Given the description of an element on the screen output the (x, y) to click on. 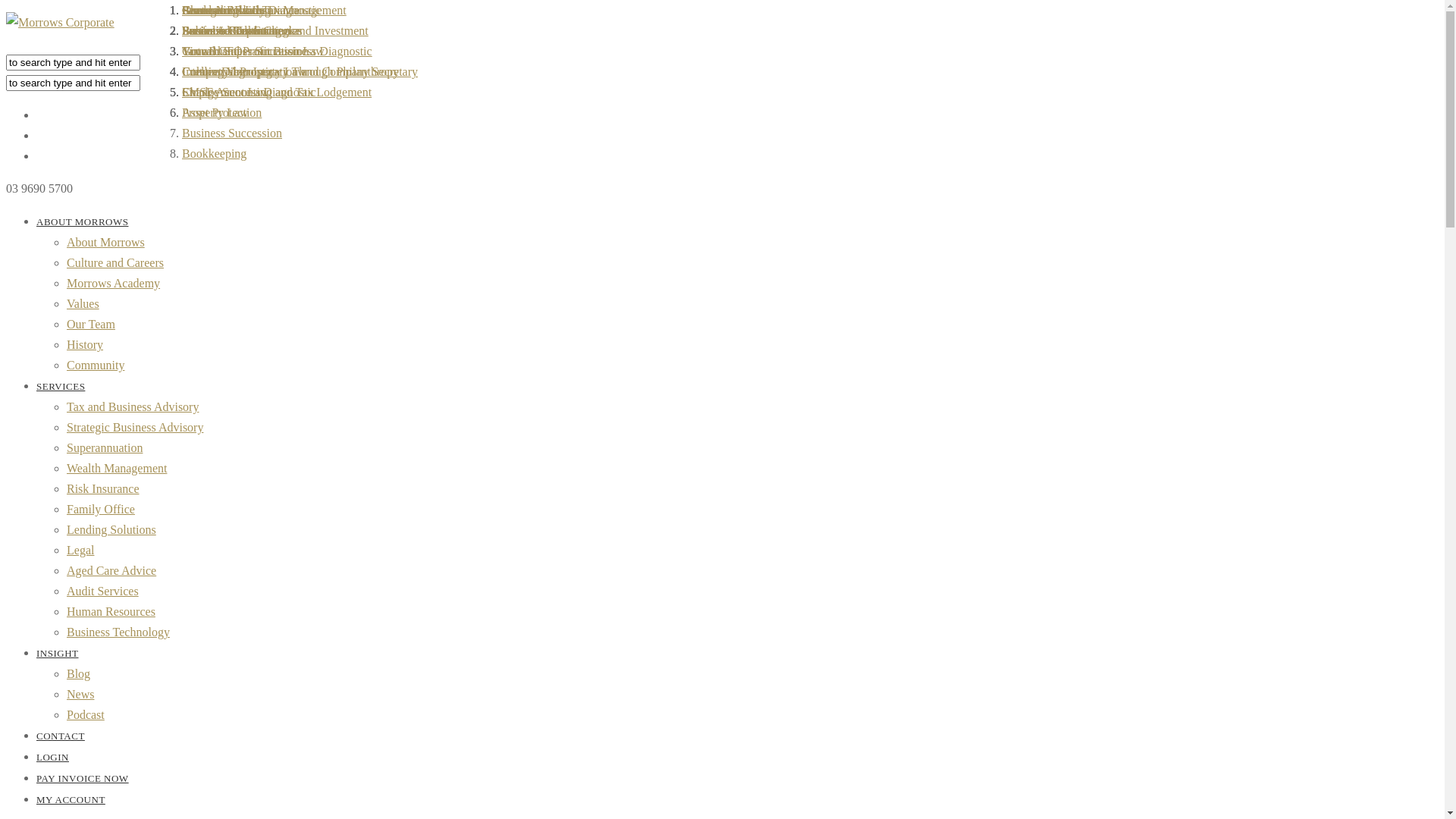
Accounting and Tax Management Element type: text (264, 9)
MY ACCOUNT Element type: text (70, 799)
Business Succession Element type: text (232, 132)
Values Element type: text (82, 303)
Change Success Diagnostic Element type: text (249, 91)
Recession Ready Diagnostic Element type: text (251, 9)
INSIGHT Element type: text (57, 652)
Culture Diagnostic Element type: text (227, 71)
Tax and Business Advisory Element type: text (132, 406)
Portfolio Construction and Investment Element type: text (275, 30)
Company Incorporation and Company Secretary Element type: text (299, 71)
Lending Solutions Element type: text (111, 529)
Succession Law Element type: text (221, 30)
Asset Protection Element type: text (221, 112)
Audit Services Element type: text (102, 590)
Virtual CFO Element type: text (211, 50)
Aged Care Advice Element type: text (111, 570)
About Morrows Element type: text (105, 241)
Enhanced Reporting Element type: text (231, 30)
SMSF Accounting and Tax Lodgement Element type: text (276, 91)
Personal Risk Insurance Element type: text (240, 9)
Your Business Succession Element type: text (245, 50)
Legal Element type: text (80, 549)
Commercial Law Element type: text (224, 9)
PAY INVOICE NOW Element type: text (82, 778)
Strategic Advice Element type: text (222, 9)
History Element type: text (84, 344)
Our Team Element type: text (90, 323)
Morrows Academy Element type: text (113, 282)
Morrows Corporate Element type: hover (60, 21)
News Element type: text (80, 693)
LOGIN Element type: text (52, 756)
Risk Insurance Element type: text (102, 488)
Strategic Business Advisory Element type: text (134, 426)
Bookkeeping Element type: text (214, 153)
Senior Accountant Element type: text (227, 30)
Intellectual Property Law Element type: text (244, 71)
Tax and Superannuation Law Element type: text (253, 50)
Community Element type: text (95, 364)
Business Health Check Element type: text (238, 30)
Executive Tax Strategies Element type: text (242, 30)
Business Risk Insurance Element type: text (241, 30)
Property Law Element type: text (215, 112)
Business Technology Element type: text (117, 631)
Family Office Element type: text (100, 508)
Growth and Profit Business Diagnostic Element type: text (277, 50)
Wealth Management Element type: text (116, 467)
Graduate Element type: text (204, 9)
Culture and Careers Element type: text (114, 262)
Human Resources Element type: text (110, 611)
Blog Element type: text (78, 673)
Cloud Accounting Element type: text (226, 9)
Podcast Element type: text (85, 714)
Employment Law Element type: text (225, 91)
ABOUT MORROWS Element type: text (82, 221)
Superannuation Element type: text (104, 447)
Creating Your Legacy Through Philanthropy Element type: text (290, 71)
SERVICES Element type: text (60, 386)
CONTACT Element type: text (60, 735)
